Given the description of an element on the screen output the (x, y) to click on. 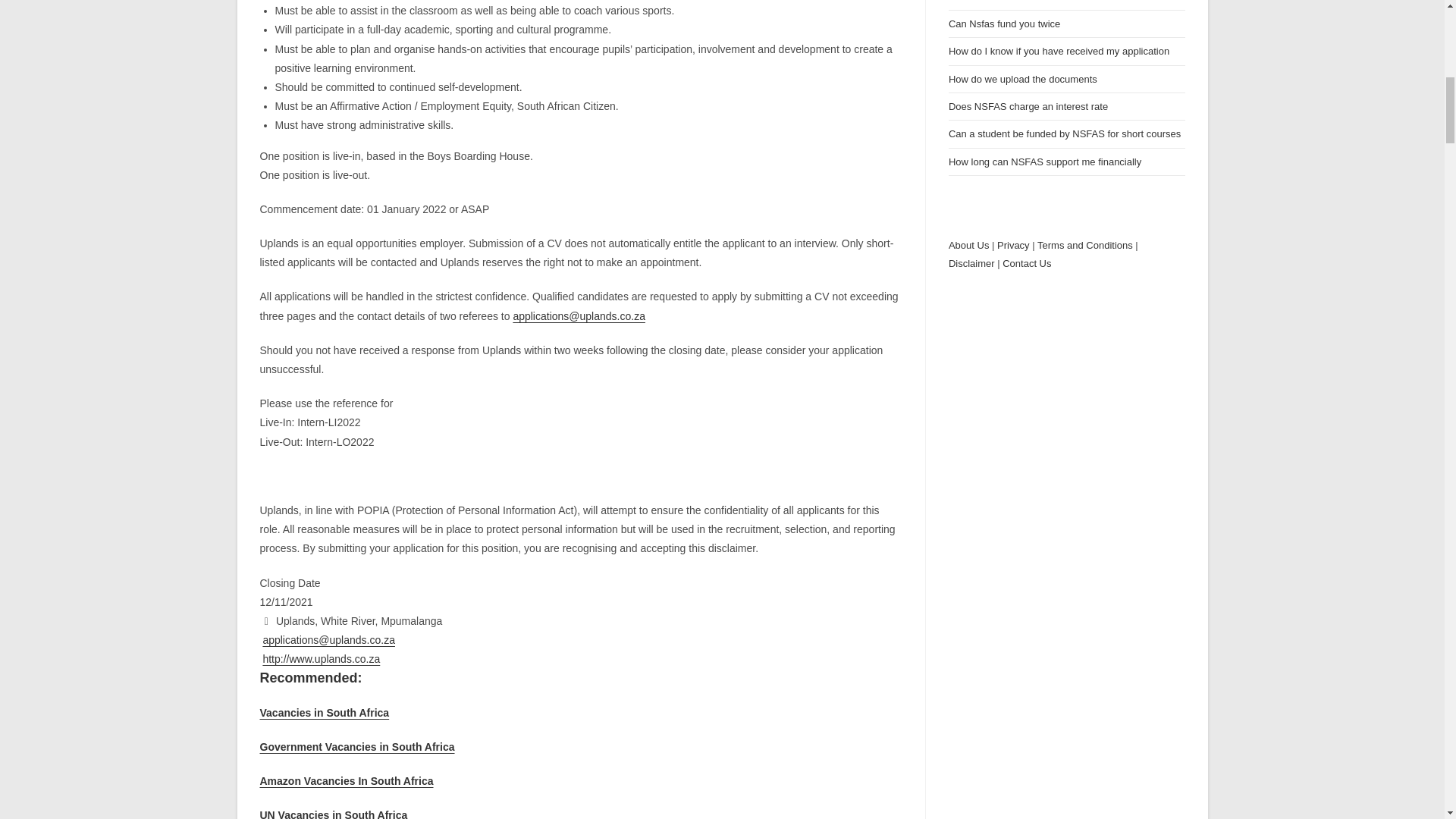
Vacancies in South Africa (323, 712)
Government Vacancies in South Africa (356, 746)
Amazon Vacancies In South Africa (345, 780)
UN Vacancies in South Africa (333, 814)
